Given the description of an element on the screen output the (x, y) to click on. 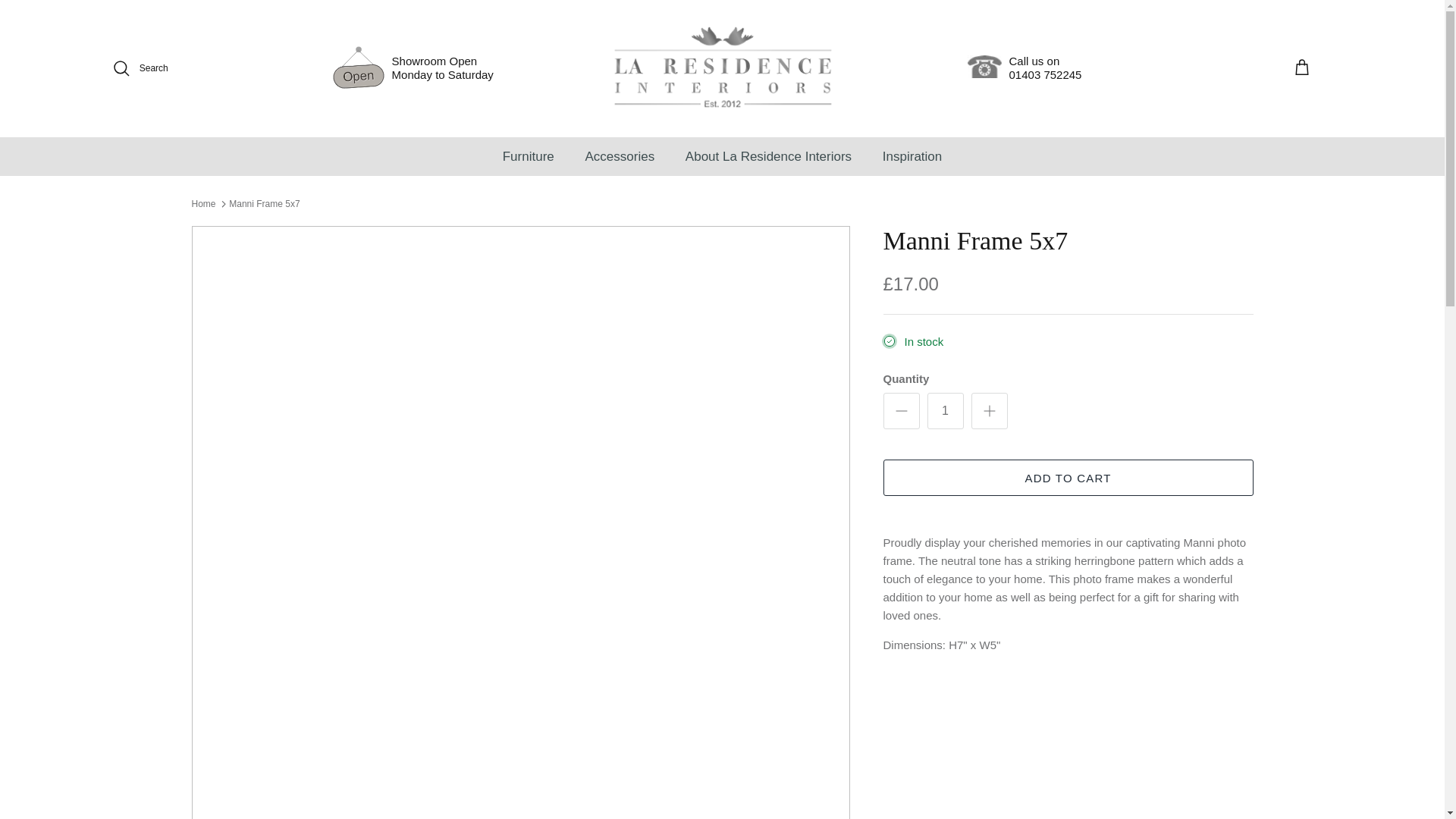
1 (944, 411)
Plus (988, 411)
Minus (900, 411)
Accessories (619, 157)
Furniture (528, 157)
Search (1024, 67)
La Residence Interiors (139, 67)
Showroom Open Monday to Saturday (721, 68)
